Given the description of an element on the screen output the (x, y) to click on. 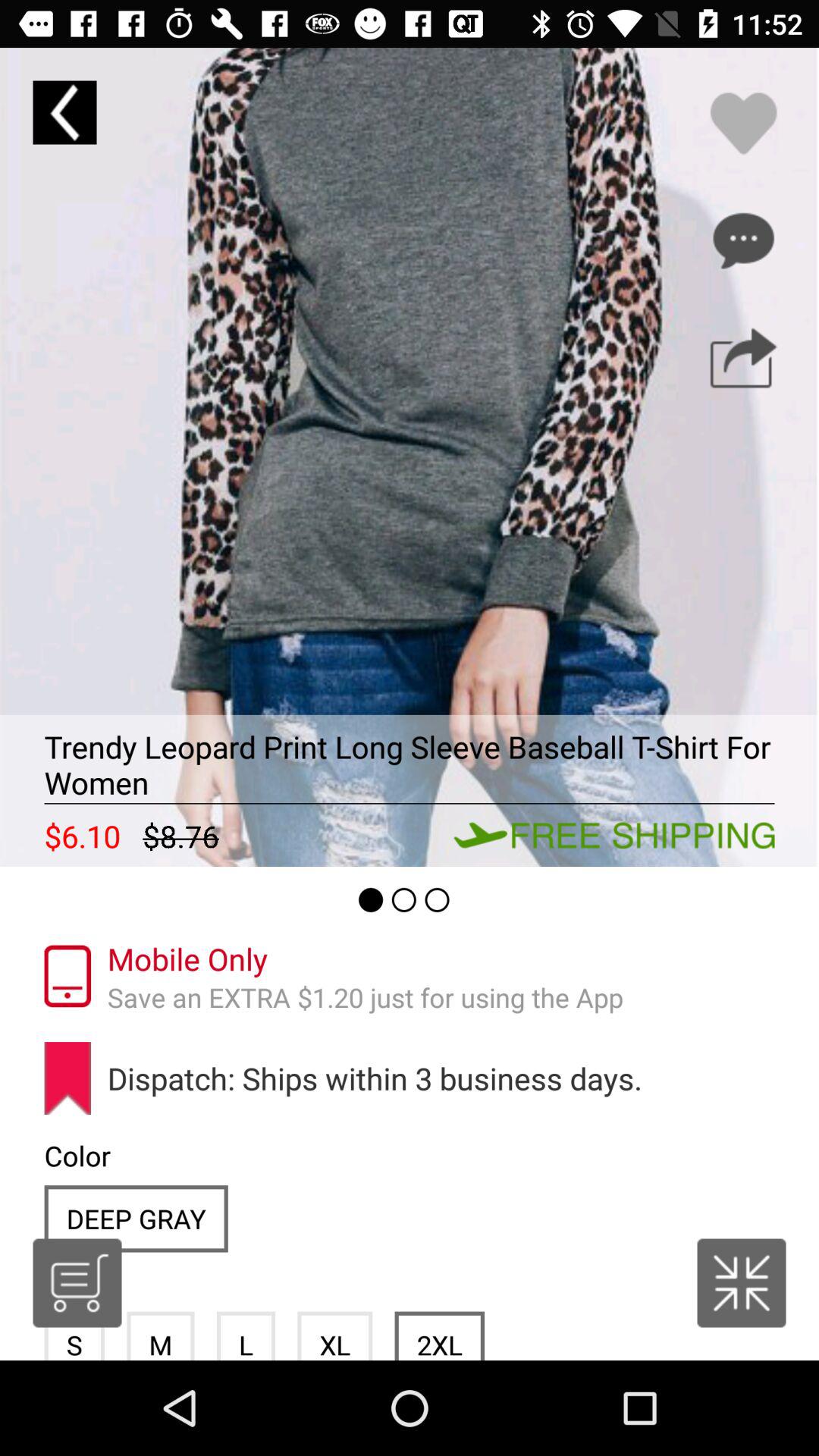
click on the photo (409, 456)
